Given the description of an element on the screen output the (x, y) to click on. 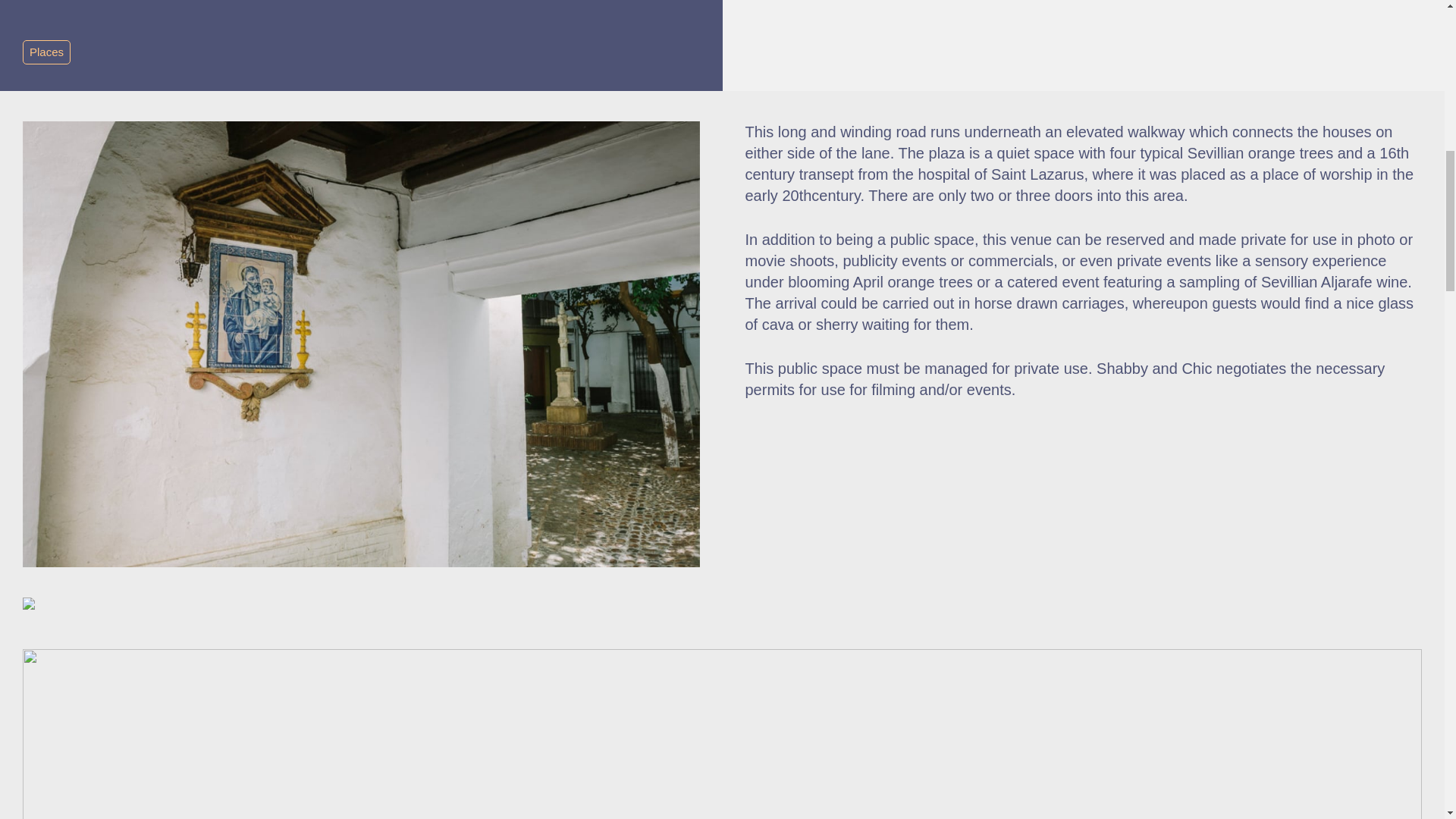
Barreduela de la Cruz (361, 615)
Places (46, 52)
